Given the description of an element on the screen output the (x, y) to click on. 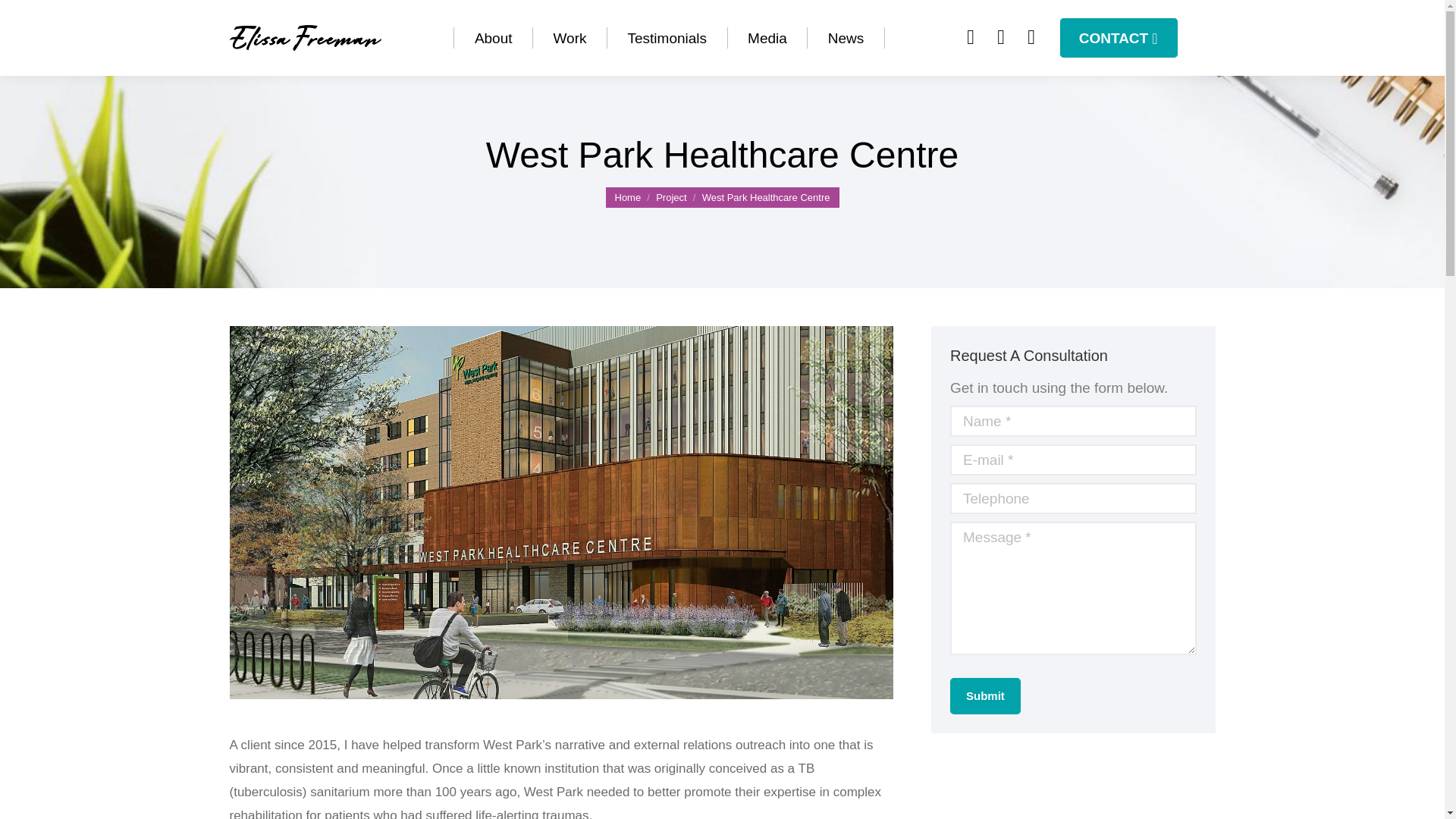
News (845, 37)
X page opens in new window (1001, 37)
Home (627, 196)
Instagram page opens in new window (1031, 37)
Linkedin page opens in new window (971, 37)
Home (627, 196)
Work (570, 37)
CONTACT (1118, 37)
About (493, 37)
submit (1060, 695)
submit (1060, 695)
Project (670, 196)
X page opens in new window (1001, 37)
Instagram page opens in new window (1031, 37)
Submit (984, 696)
